Given the description of an element on the screen output the (x, y) to click on. 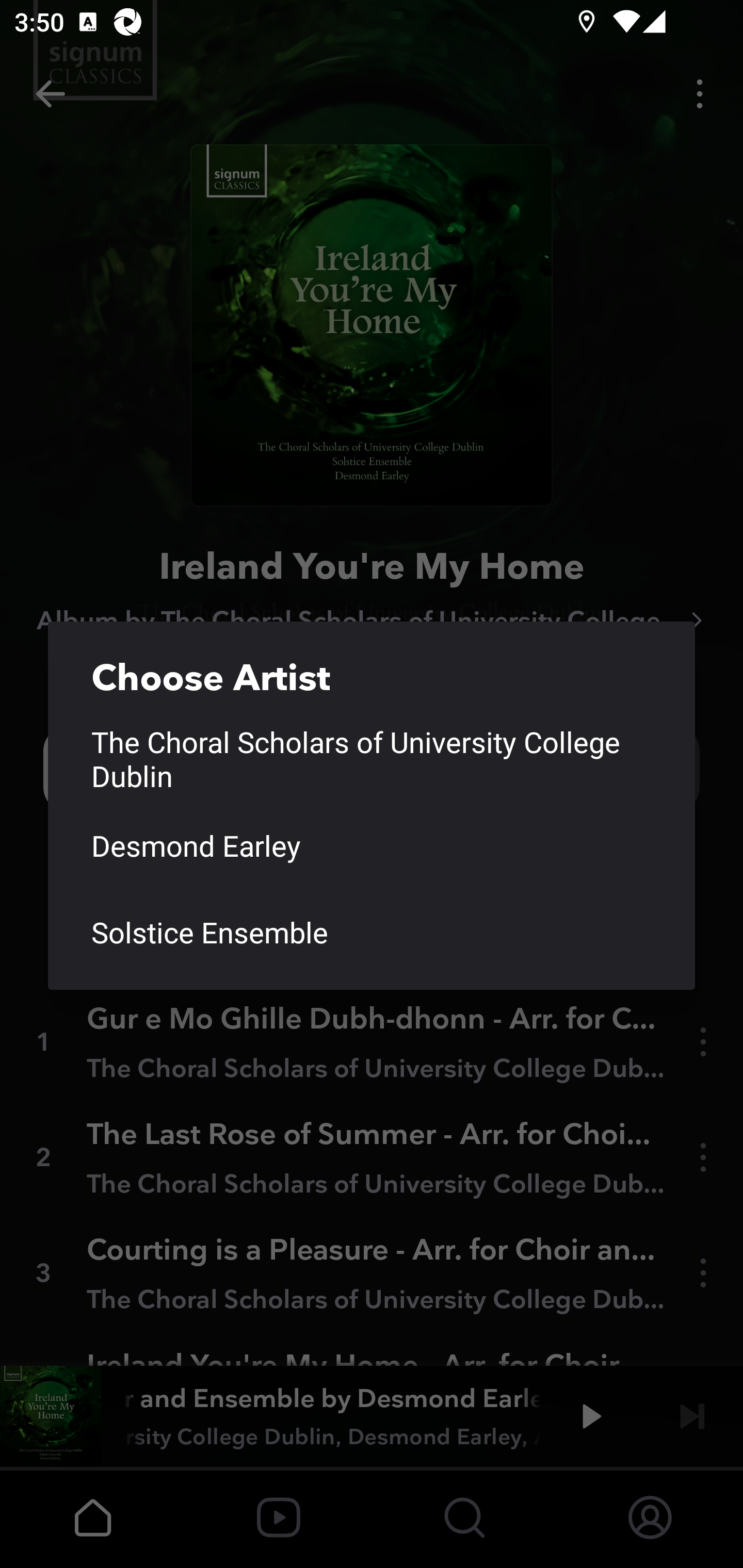
The Choral Scholars of University College Dublin (371, 758)
Desmond Earley (371, 845)
Solstice Ensemble (371, 932)
